Given the description of an element on the screen output the (x, y) to click on. 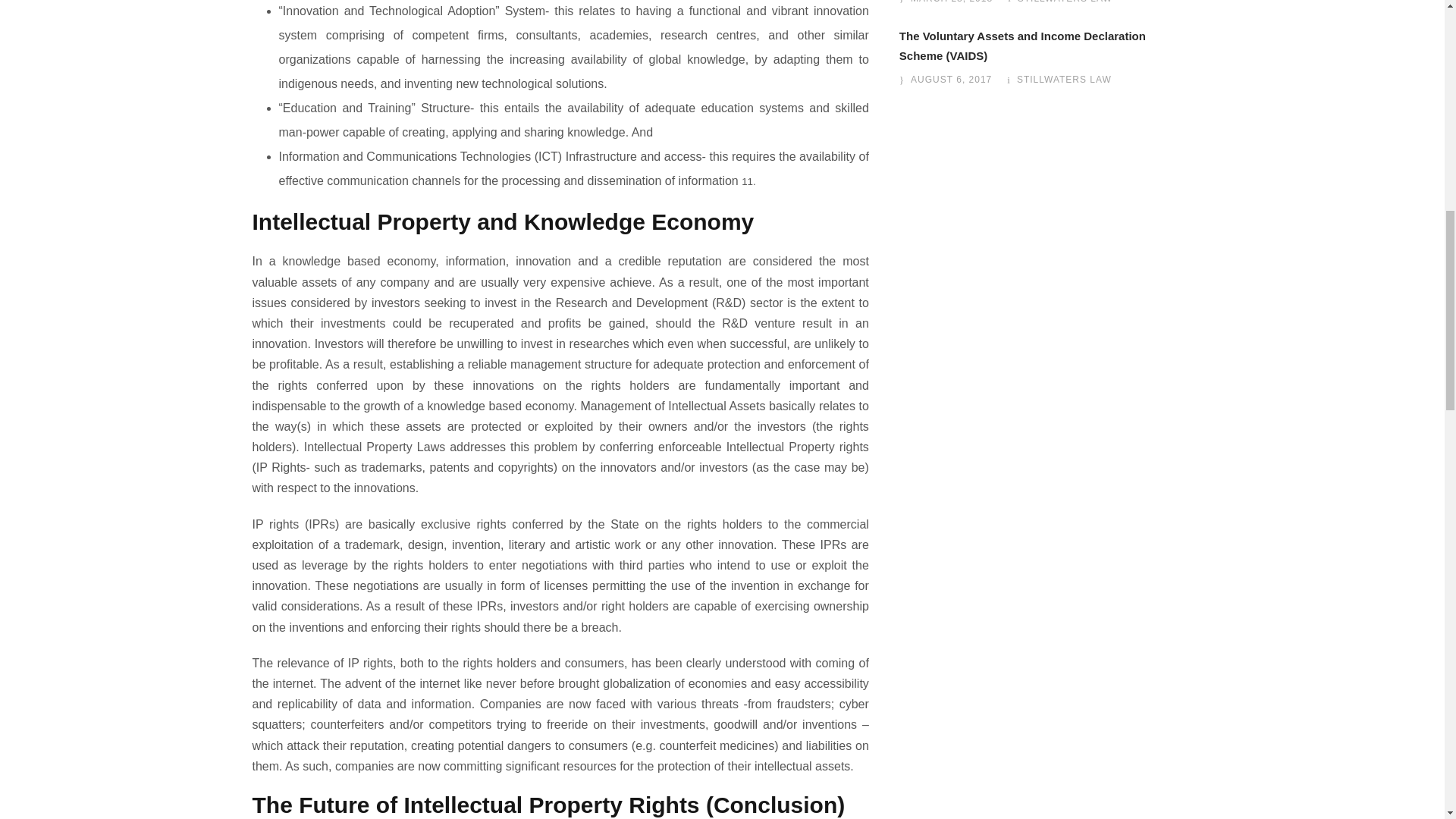
Posts by Stillwaters Law (1064, 2)
